Given the description of an element on the screen output the (x, y) to click on. 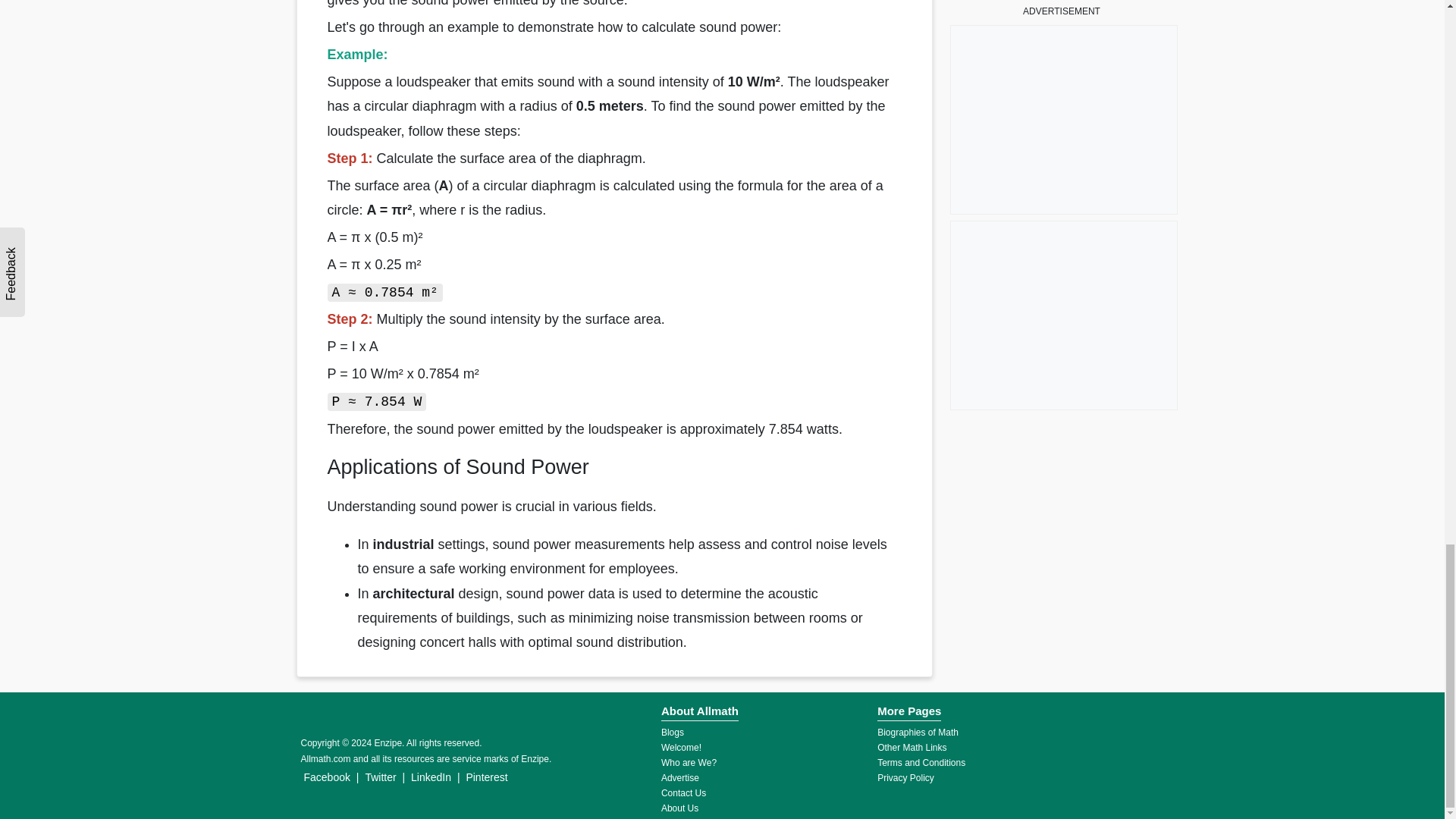
Biographies of Math (917, 732)
About Us (679, 808)
Twitter (379, 776)
Welcome! (681, 747)
LinkedIn (430, 776)
Contact Us (683, 792)
Blogs (672, 732)
Other Math Links (911, 747)
Pinterest (487, 776)
Privacy Policy (905, 777)
